Given the description of an element on the screen output the (x, y) to click on. 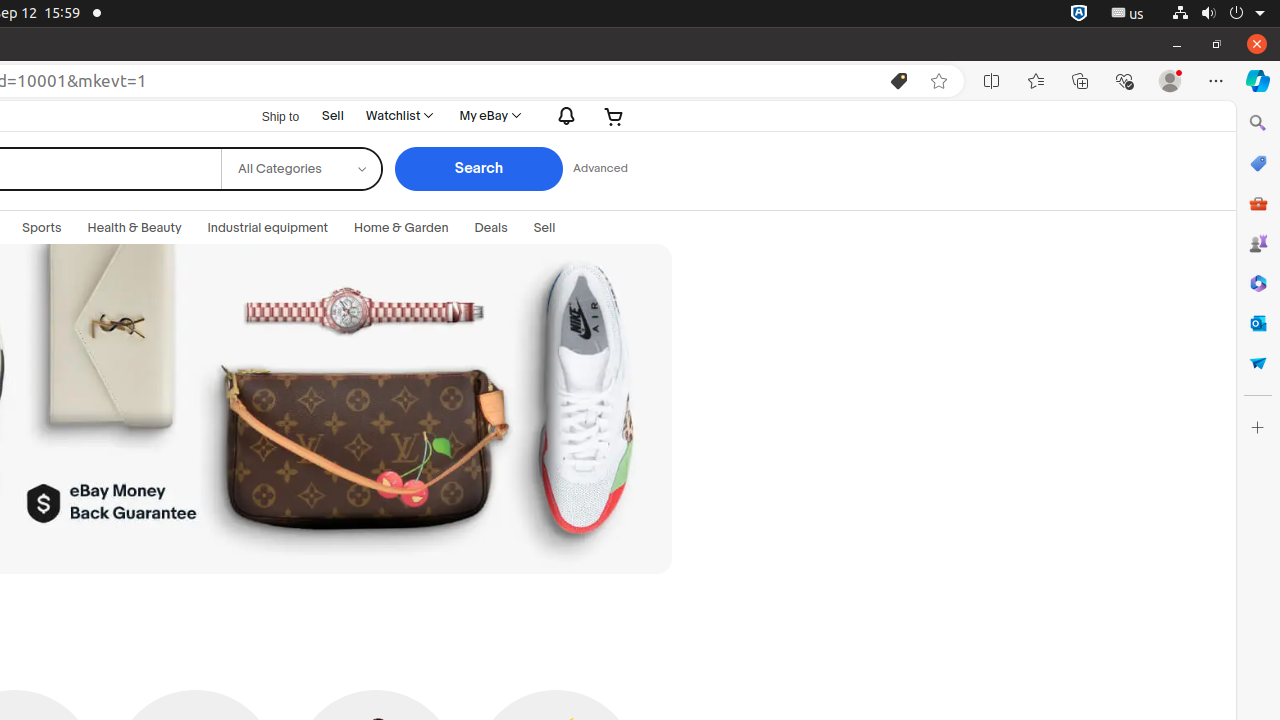
Games Element type: push-button (1258, 243)
Search Element type: push-button (478, 169)
:1.72/StatusNotifierItem Element type: menu (1079, 13)
